Given the description of an element on the screen output the (x, y) to click on. 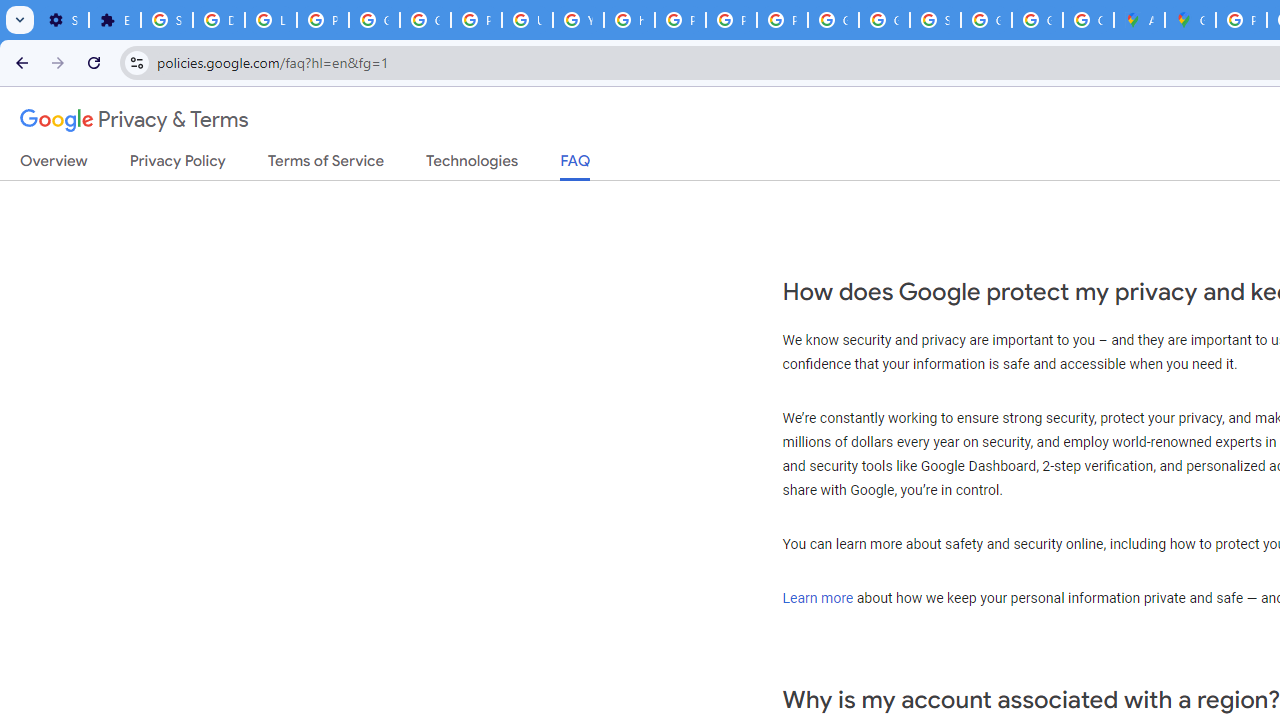
Privacy Help Center - Policies Help (680, 20)
